Given the description of an element on the screen output the (x, y) to click on. 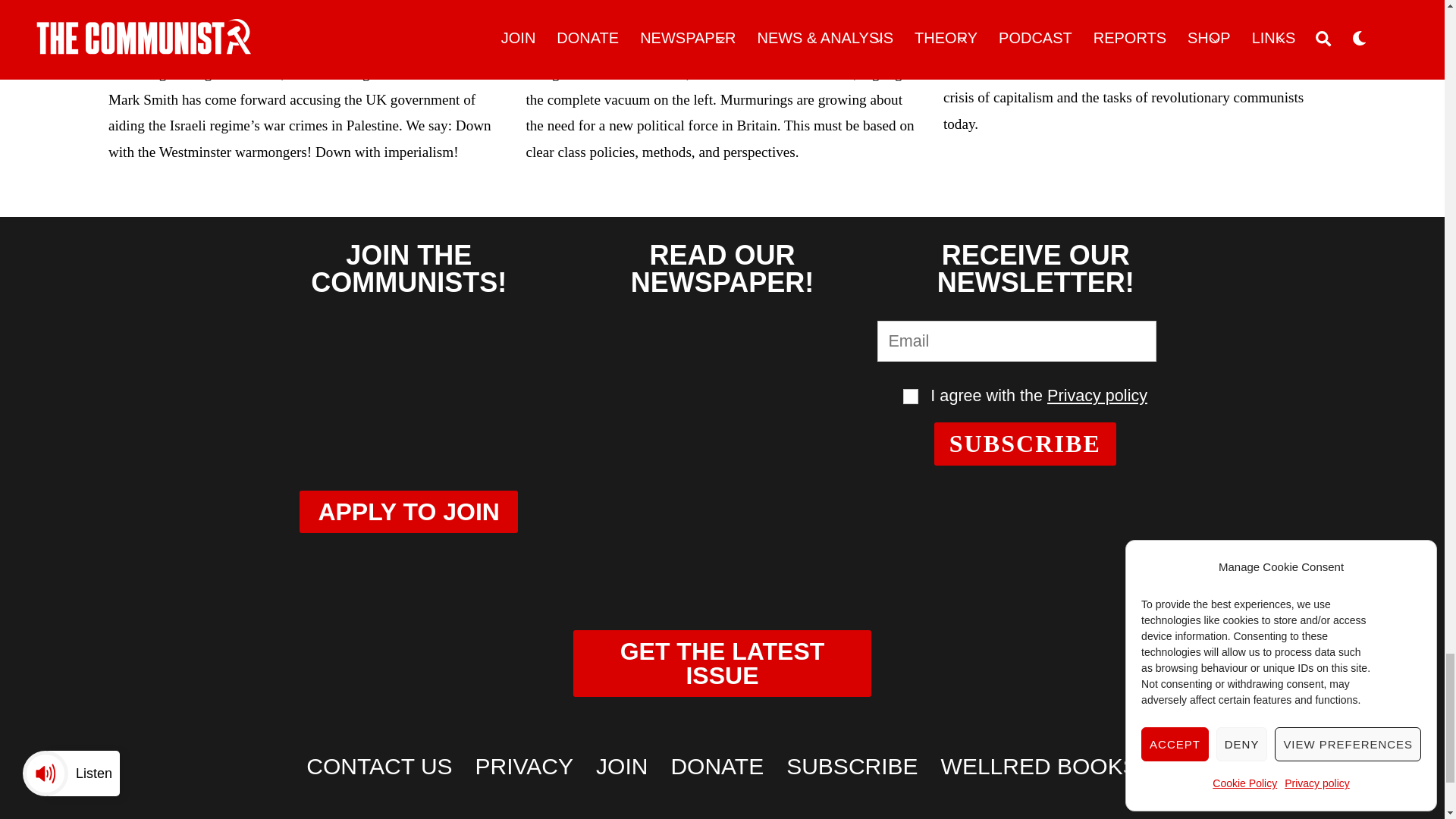
Terms and conditions (910, 396)
on (910, 396)
Privacy policy (1096, 394)
